Given the description of an element on the screen output the (x, y) to click on. 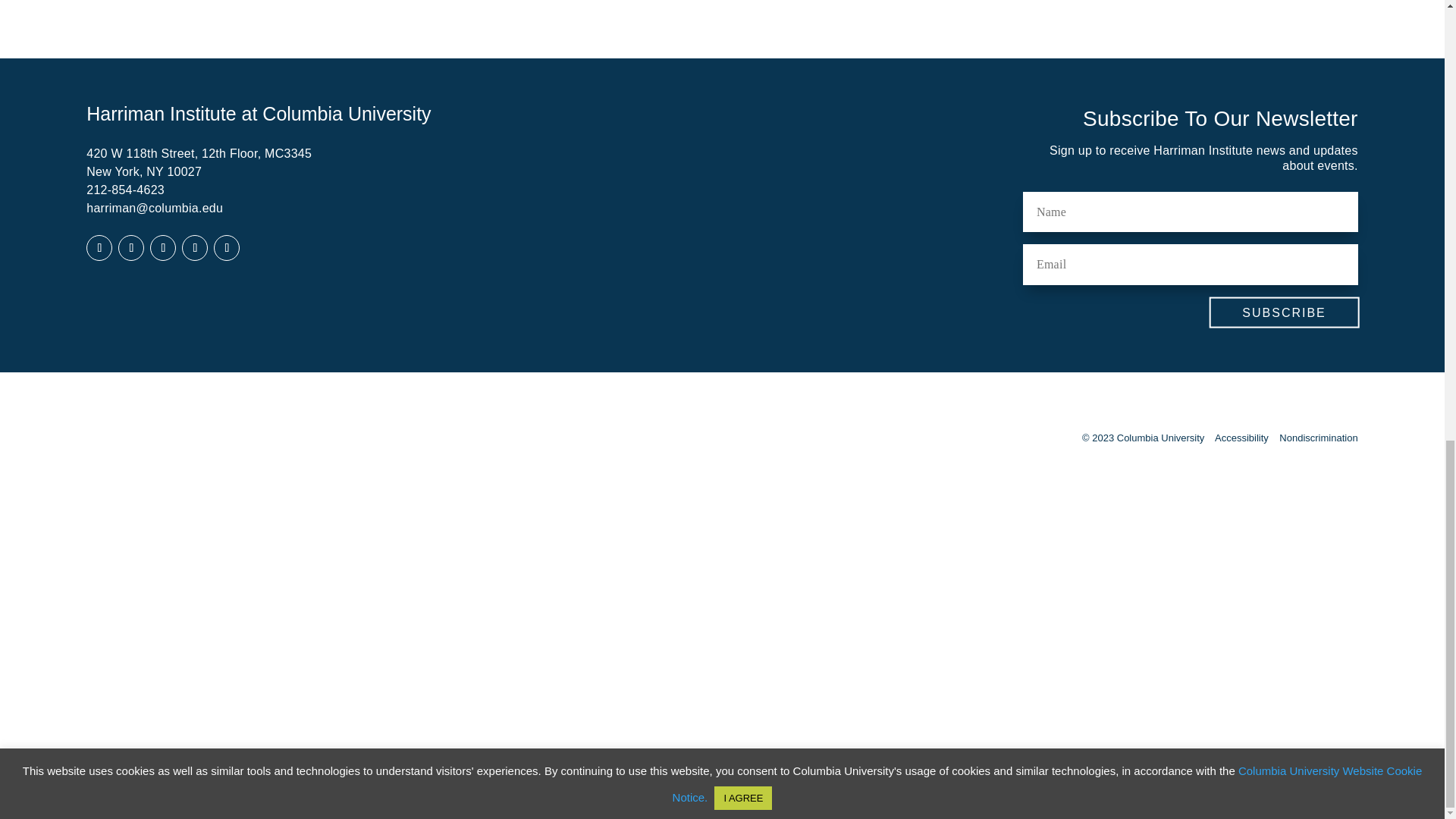
Follow on Twitter (162, 248)
Follow on Facebook (98, 248)
Follow on Instagram (227, 248)
Follow on LinkedIn (130, 248)
Follow on Youtube (195, 248)
